Given the description of an element on the screen output the (x, y) to click on. 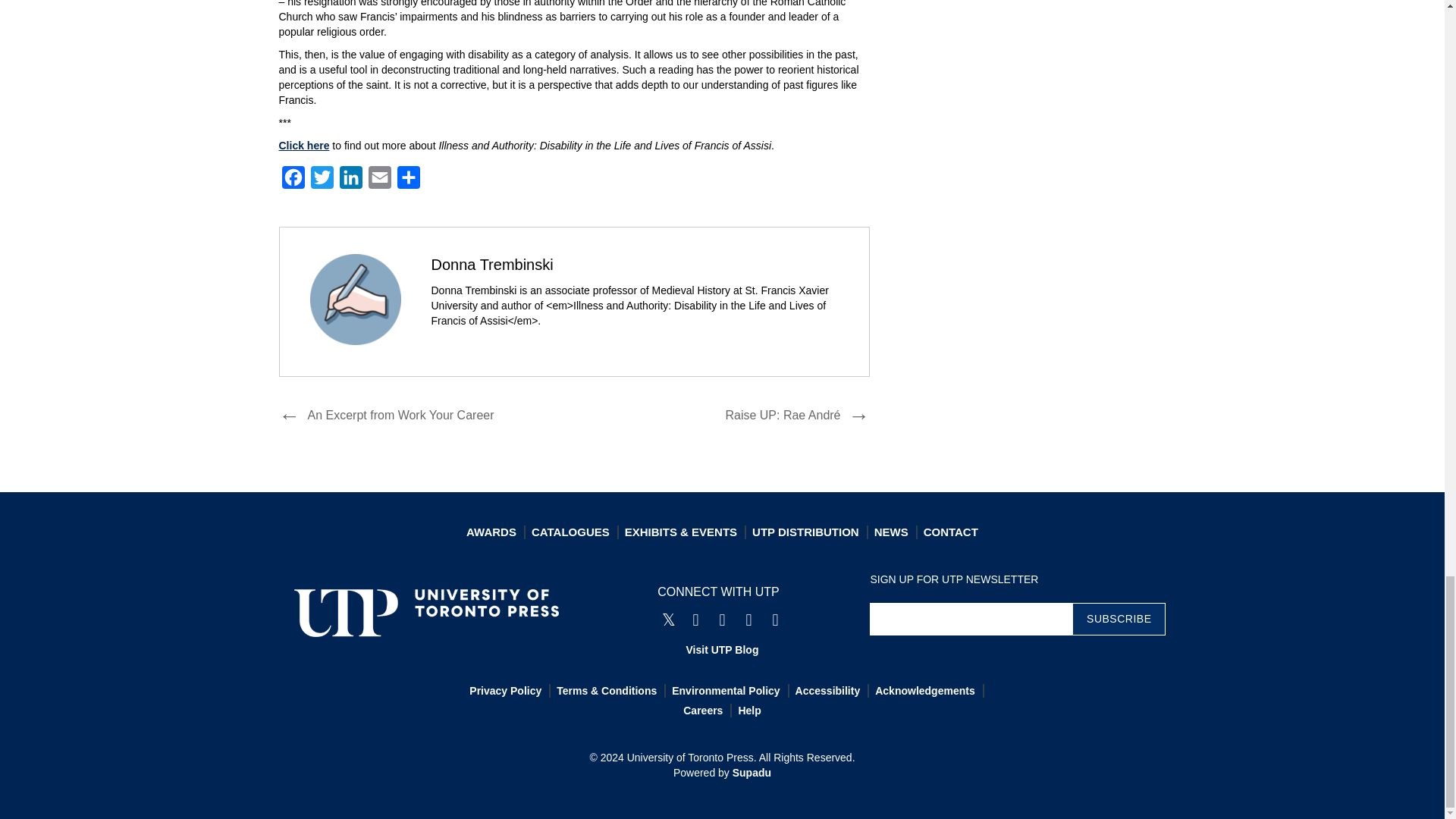
Facebook (293, 181)
Follow us on Instagram (721, 620)
Twitter (321, 181)
Email (379, 181)
Subscribe (1118, 618)
Follow us on Facebook (695, 620)
LinkedIn (350, 181)
